Given the description of an element on the screen output the (x, y) to click on. 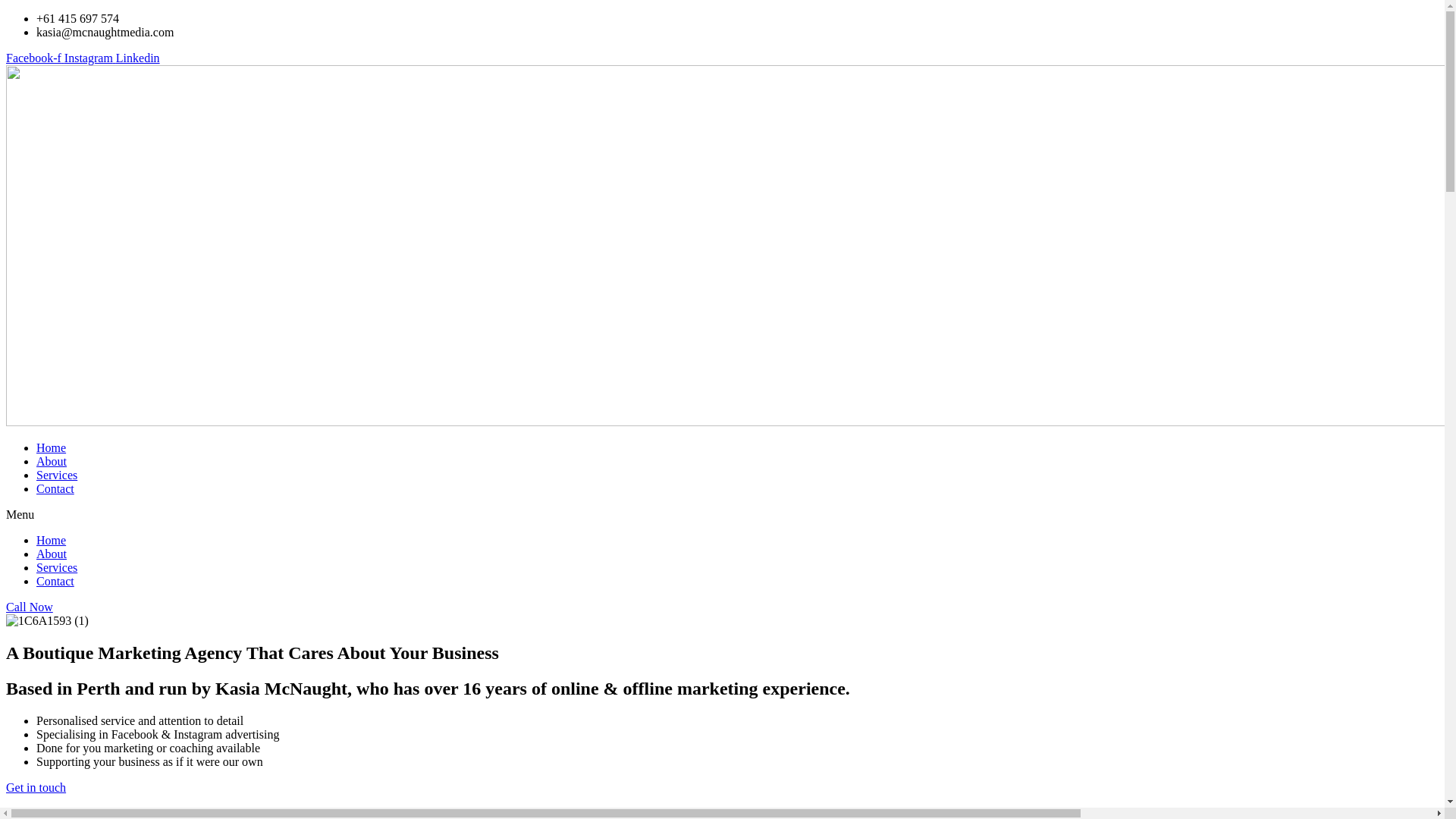
Services Element type: text (56, 567)
Services Element type: text (56, 474)
Call Now Element type: text (722, 607)
Home Element type: text (50, 447)
Contact Element type: text (55, 580)
1C6A1593 (1) Element type: hover (47, 620)
Facebook-f Element type: text (35, 57)
Contact Element type: text (55, 488)
Instagram Element type: text (90, 57)
Linkedin Element type: text (138, 57)
Get in touch Element type: text (35, 787)
Home Element type: text (50, 539)
About Element type: text (51, 553)
About Element type: text (51, 461)
